Given the description of an element on the screen output the (x, y) to click on. 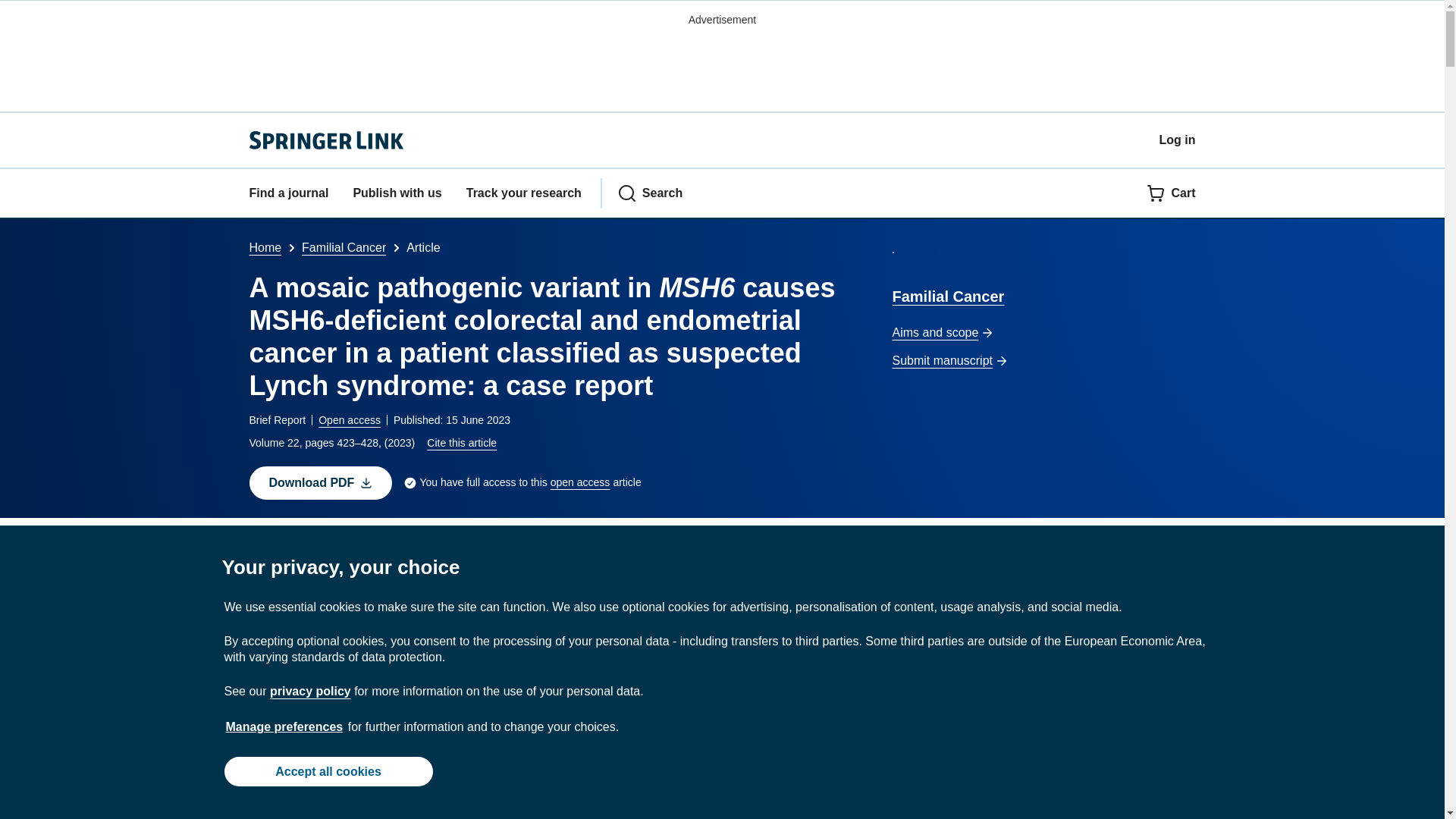
Track your research (524, 192)
privacy policy (309, 690)
Download PDF (319, 482)
Aims and scope (1043, 332)
Peter Georgeson (746, 548)
Log in (1177, 139)
Submit manuscript (1043, 361)
Search (649, 192)
Cite this article (461, 442)
